Given the description of an element on the screen output the (x, y) to click on. 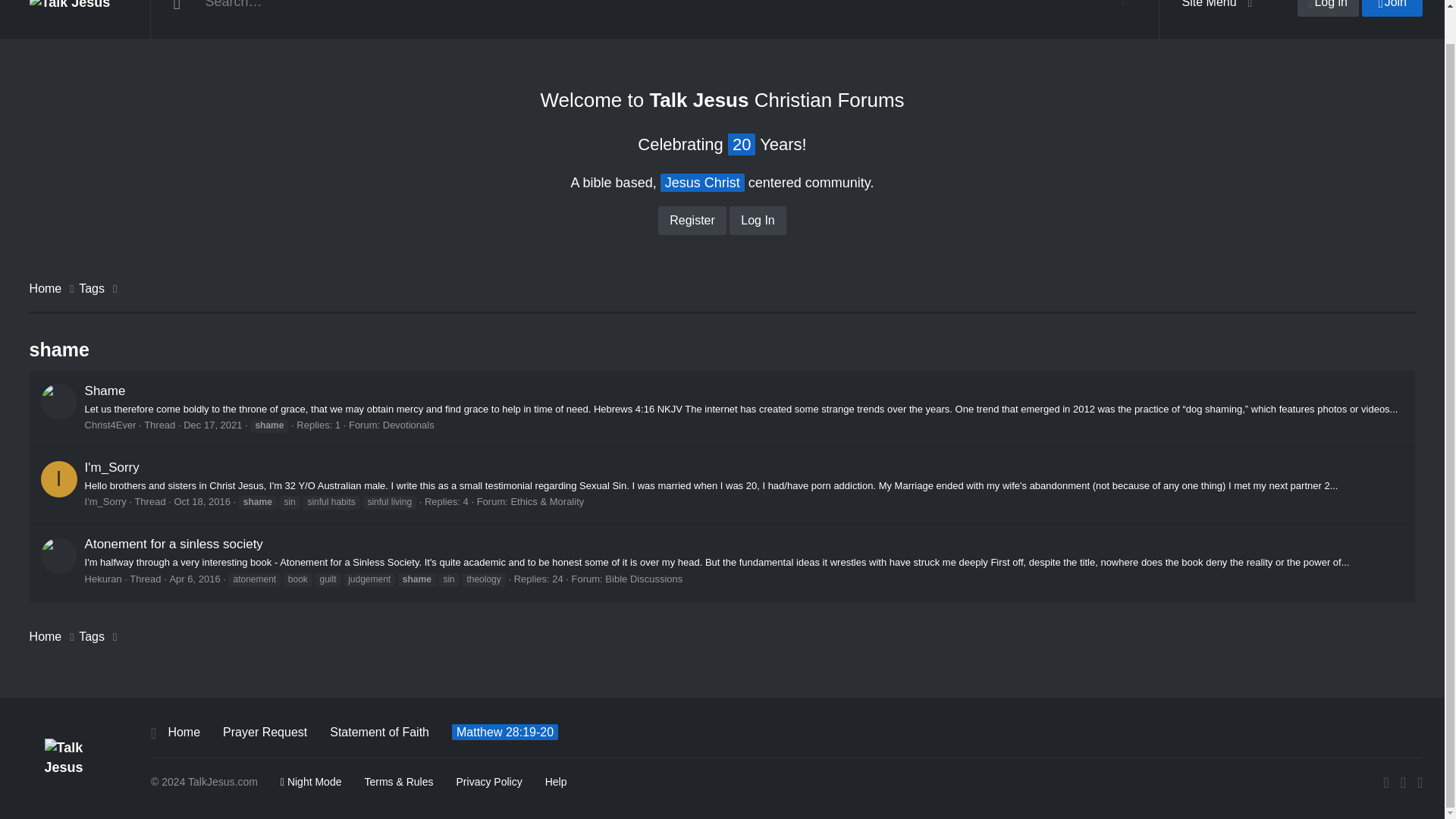
Oct 18, 2016 at 9:42 PM (201, 501)
Join (1391, 8)
Log in (1327, 8)
Apr 6, 2016 at 3:38 PM (193, 578)
Dec 17, 2021 at 8:08 AM (212, 424)
Style chooser (311, 781)
